Given the description of an element on the screen output the (x, y) to click on. 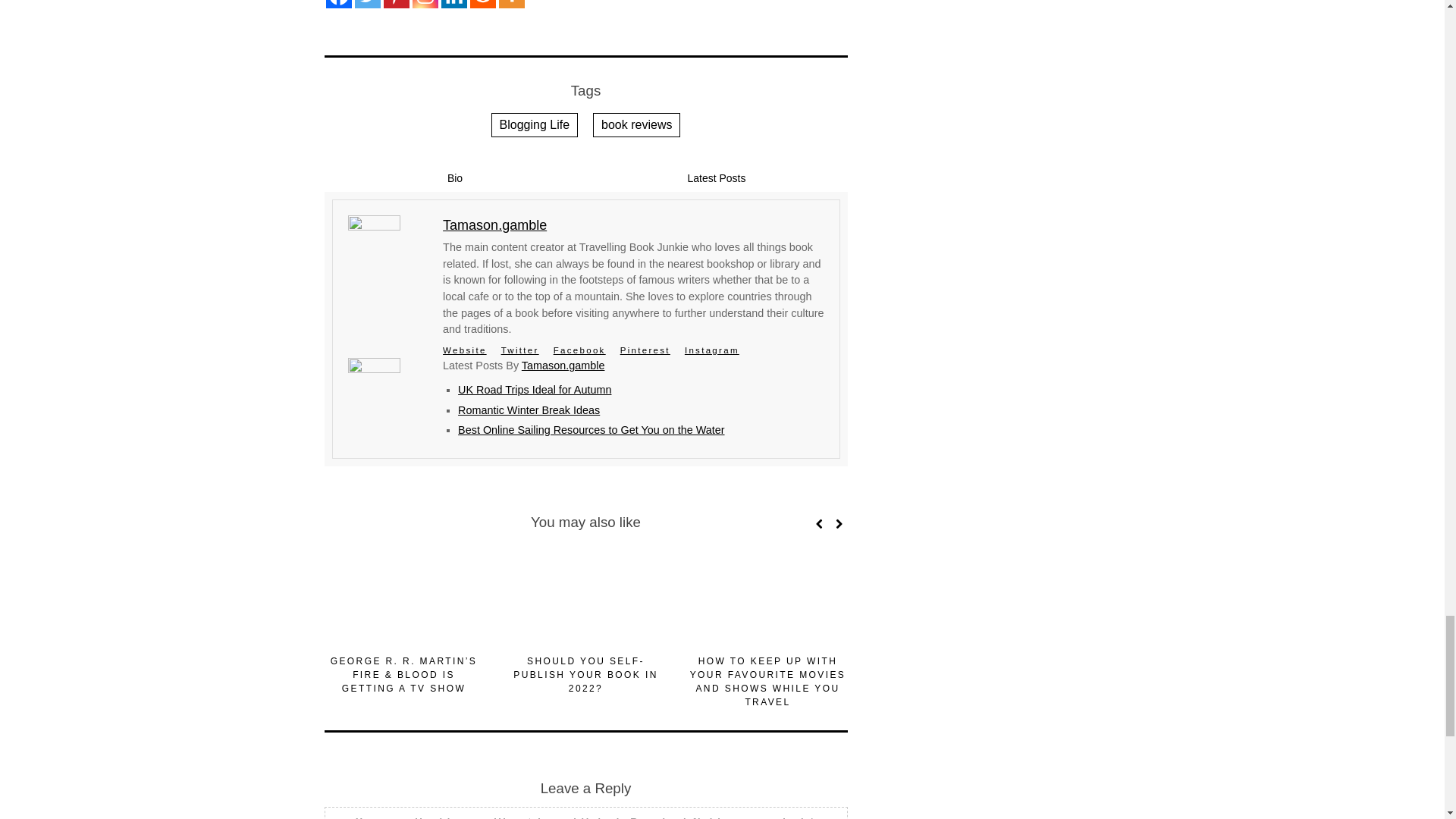
Facebook (339, 4)
More (511, 4)
Twitter (367, 4)
Bio (455, 178)
Pinterest (396, 4)
Instagram (425, 4)
Blogging Life (535, 125)
Linkedin (454, 4)
book reviews (635, 125)
Reddit (483, 4)
